Given the description of an element on the screen output the (x, y) to click on. 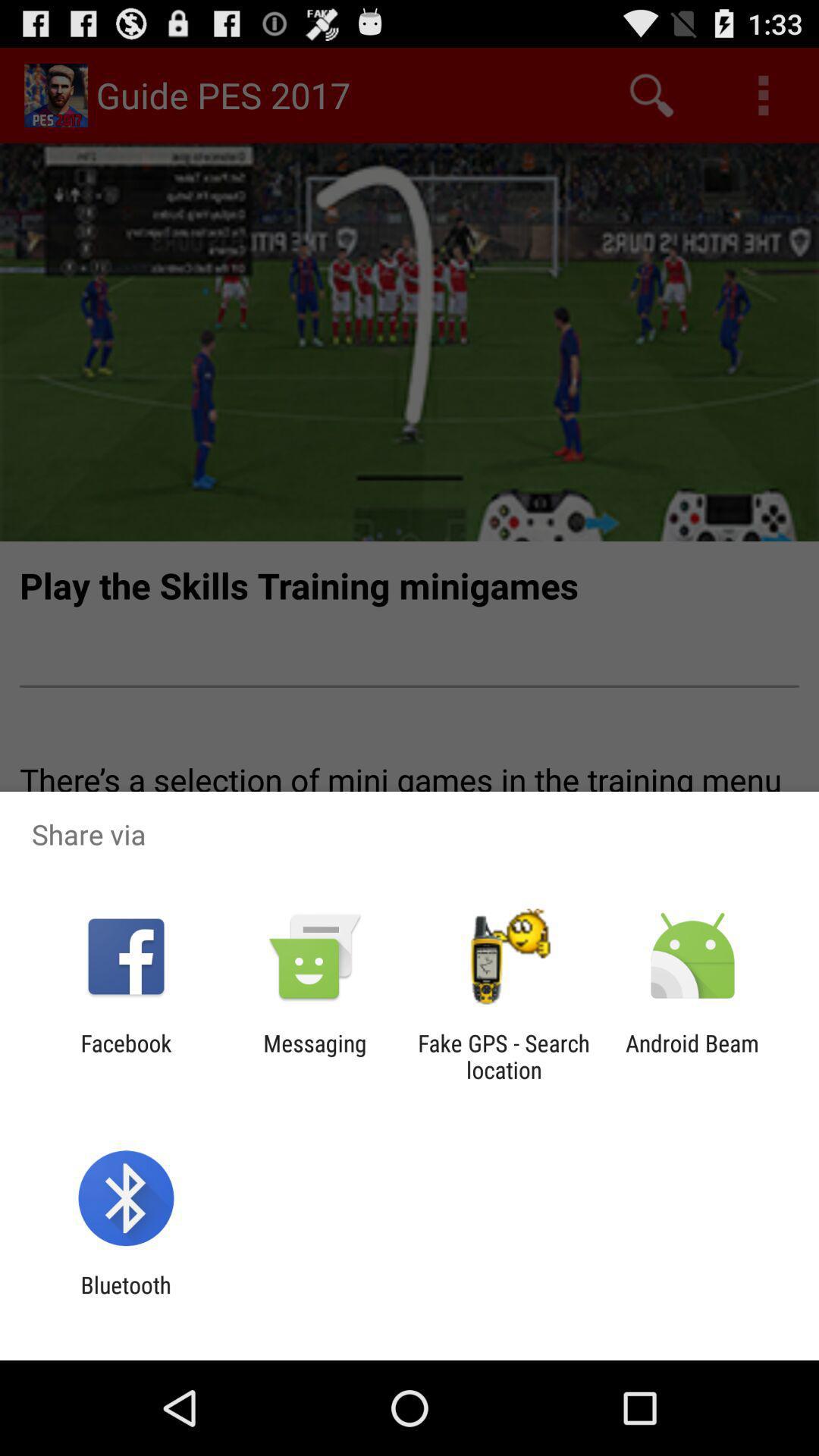
choose the facebook app (125, 1056)
